Given the description of an element on the screen output the (x, y) to click on. 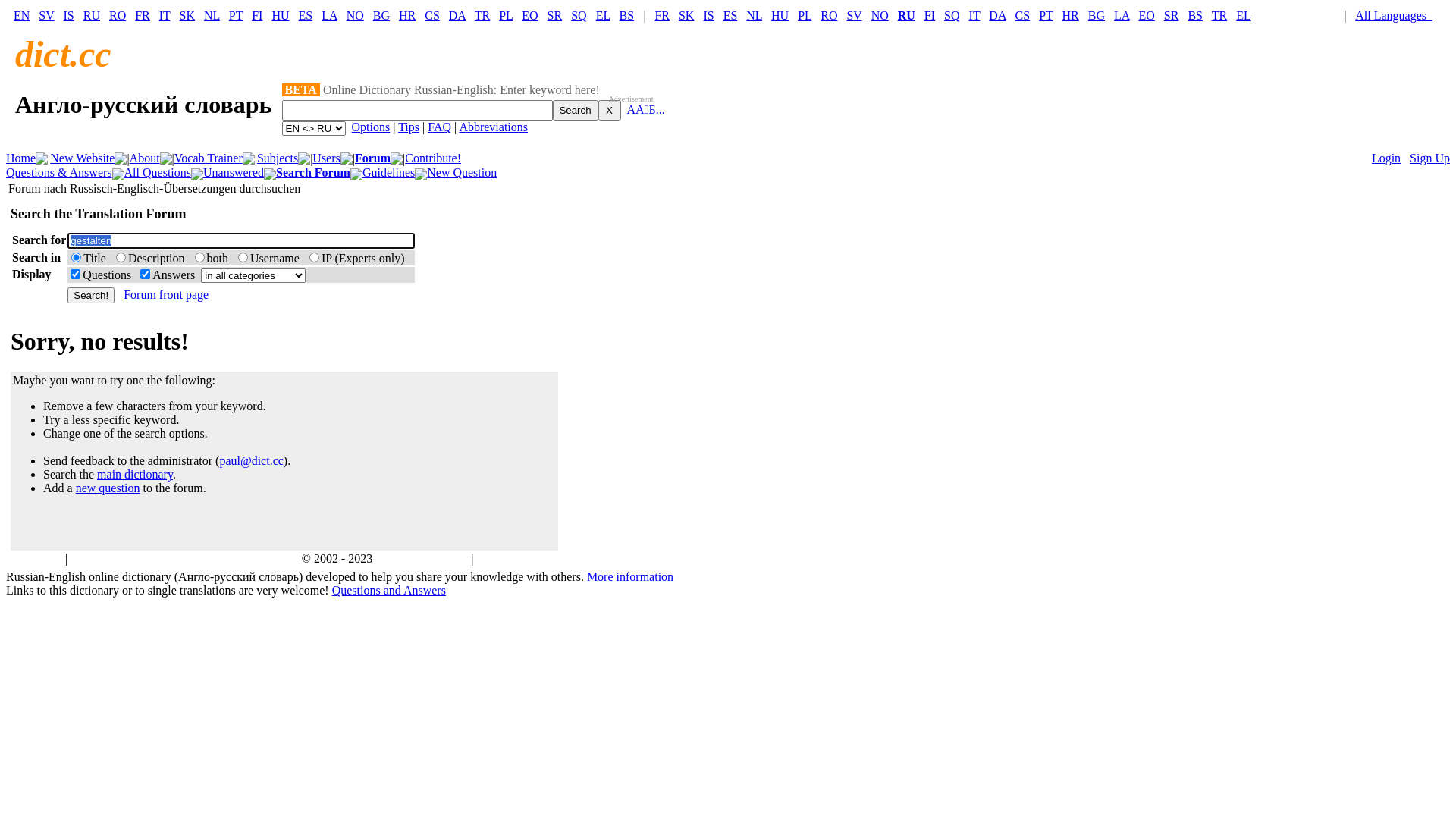
FAQ Element type: text (439, 126)
FR Element type: text (142, 15)
SK Element type: text (685, 15)
SV Element type: text (853, 15)
NO Element type: text (355, 15)
LA Element type: text (1121, 15)
BG Element type: text (381, 15)
new question Element type: text (107, 487)
Contribute! Element type: text (432, 157)
RO Element type: text (828, 15)
HR Element type: text (406, 15)
Users Element type: text (325, 157)
SQ Element type: text (578, 15)
LA Element type: text (328, 15)
CS Element type: text (1022, 15)
EO Element type: text (1146, 15)
IS Element type: text (707, 15)
NO Element type: text (879, 15)
Abbreviations Element type: text (492, 126)
EL Element type: text (603, 15)
Forum front page Element type: text (165, 294)
Search Element type: text (575, 110)
NL Element type: text (211, 15)
SK Element type: text (186, 15)
Forum Element type: text (372, 157)
Login Element type: text (1385, 157)
DA Element type: text (456, 15)
IS Element type: text (68, 15)
FR Element type: text (661, 15)
SR Element type: text (554, 15)
HU Element type: text (779, 15)
RO Element type: text (117, 15)
Unanswered Element type: text (233, 172)
BS Element type: text (626, 15)
More information Element type: text (629, 576)
Vocab Trainer Element type: text (208, 157)
SQ Element type: text (951, 15)
contact / privacy Element type: text (516, 558)
HU Element type: text (279, 15)
dict.cc Element type: text (63, 54)
Questions and Answers Element type: text (388, 589)
X Element type: text (609, 110)
RU Element type: text (906, 15)
PT Element type: text (1045, 15)
home Element type: text (83, 558)
BG Element type: text (1096, 15)
BS Element type: text (1194, 15)
About Element type: text (144, 157)
Tips Element type: text (408, 126)
FI Element type: text (256, 15)
paul@dict.cc Element type: text (250, 460)
PT Element type: text (235, 15)
RU Element type: text (91, 15)
back to top Element type: text (35, 558)
main dictionary Element type: text (134, 473)
TR Element type: text (481, 15)
ES Element type: text (730, 15)
NL Element type: text (754, 15)
Search! Element type: text (90, 295)
PL Element type: text (804, 15)
Home Element type: text (20, 157)
New Question Element type: text (461, 172)
Search Forum Element type: text (313, 172)
DA Element type: text (996, 15)
Options Element type: text (370, 126)
IT Element type: text (164, 15)
EL Element type: text (1243, 15)
New Website Element type: text (82, 157)
EO Element type: text (529, 15)
All Languages  Element type: text (1397, 15)
FI Element type: text (929, 15)
Subjects Element type: text (277, 157)
Sign Up Element type: text (1429, 157)
PL Element type: text (505, 15)
IT Element type: text (974, 15)
CS Element type: text (431, 15)
ES Element type: text (305, 15)
SR Element type: text (1171, 15)
HR Element type: text (1070, 15)
All Questions Element type: text (157, 172)
Questions & Answers Element type: text (59, 172)
TR Element type: text (1218, 15)
SV Element type: text (45, 15)
EN Element type: text (21, 15)
Guidelines Element type: text (388, 172)
Paul Hemetsberger Element type: text (421, 558)
